Given the description of an element on the screen output the (x, y) to click on. 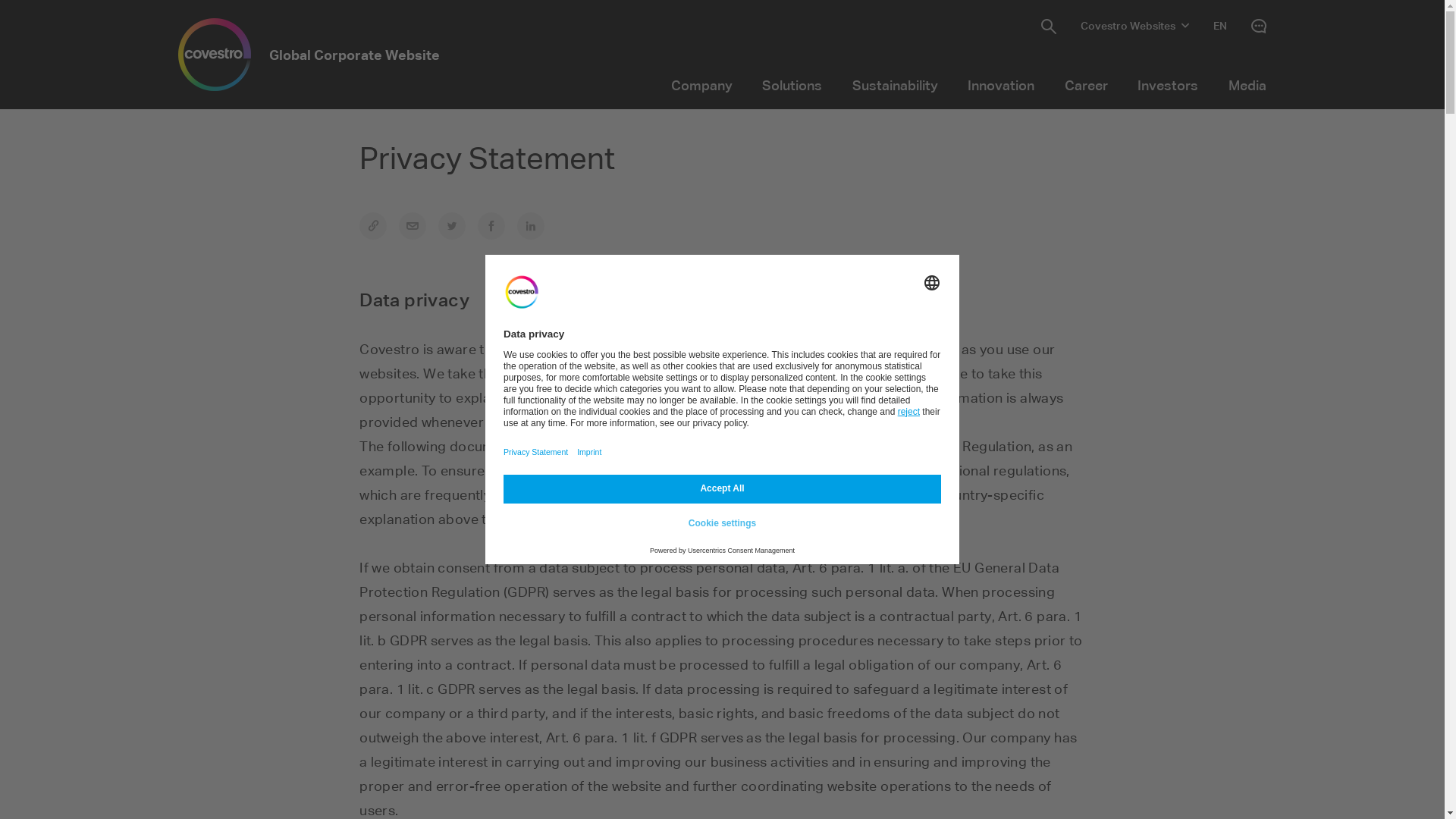
Global Corporate Website Element type: text (308, 54)
Covestro Websites Element type: text (1134, 25)
Sustainability Element type: text (894, 84)
Career Element type: text (1086, 84)
Company Element type: text (701, 84)
Media Element type: text (1247, 84)
Innovation Element type: text (1001, 84)
Solutions Element type: text (792, 84)
Investors Element type: text (1168, 84)
EN Element type: text (1220, 25)
